Given the description of an element on the screen output the (x, y) to click on. 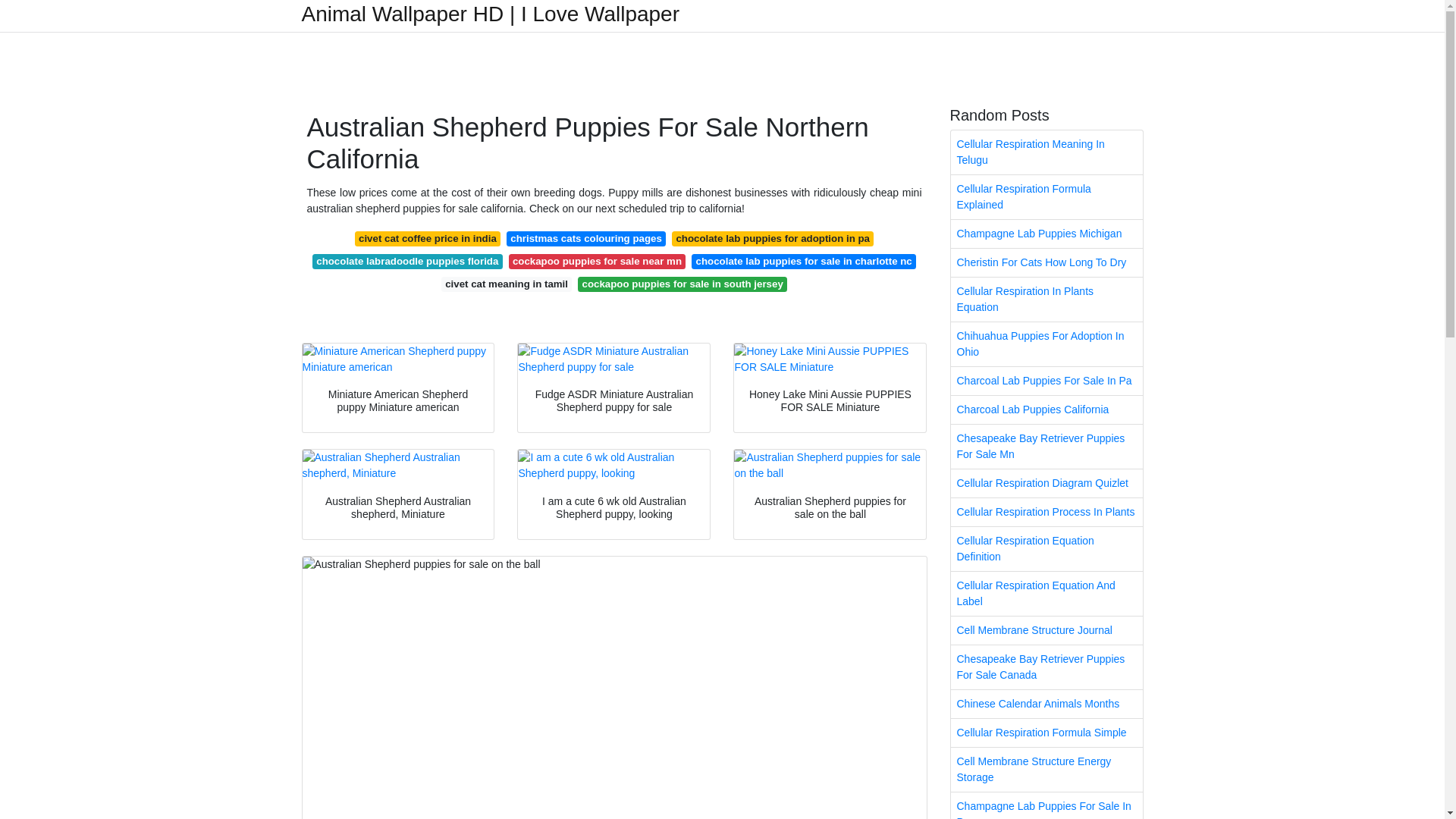
Chihuahua Puppies For Adoption In Ohio (1046, 344)
Cellular Respiration Meaning In Telugu (1046, 152)
Charcoal Lab Puppies For Sale In Pa (1046, 380)
Cellular Respiration Diagram Quizlet (1046, 483)
cockapoo puppies for sale in south jersey (682, 283)
Chesapeake Bay Retriever Puppies For Sale Mn (1046, 446)
civet cat meaning in tamil (506, 283)
christmas cats colouring pages (585, 238)
civet cat coffee price in india (427, 238)
Cellular Respiration Formula Explained (1046, 197)
